Given the description of an element on the screen output the (x, y) to click on. 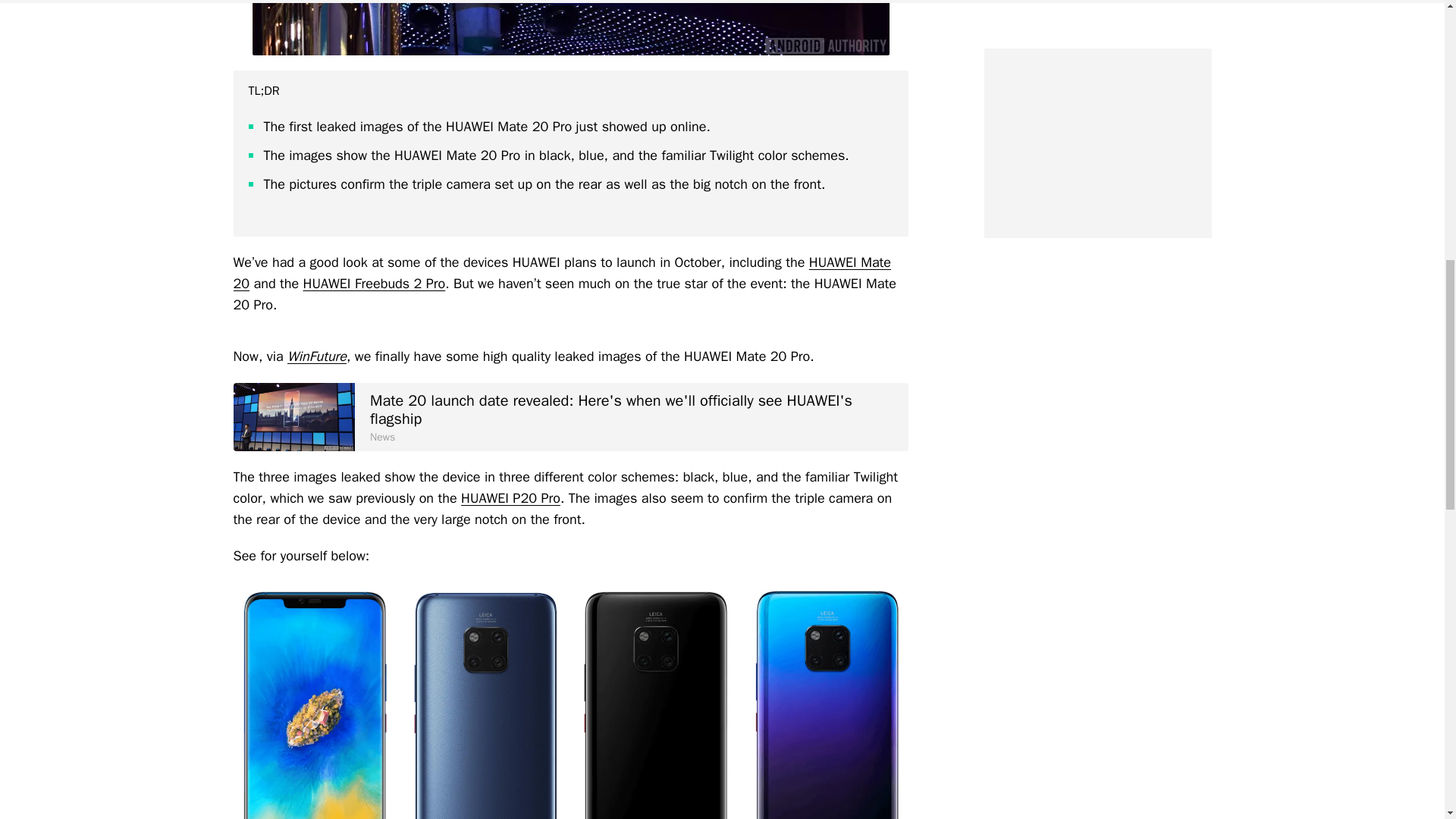
HUAWEI Freebuds 2 Pro (373, 283)
HUAWEI P20 Pro (510, 497)
HUAWEI logo MWC (569, 27)
HUAWEI Mate 20 launch date (293, 416)
HUAWEI Mate 20 (561, 272)
WinFuture (316, 356)
